Given the description of an element on the screen output the (x, y) to click on. 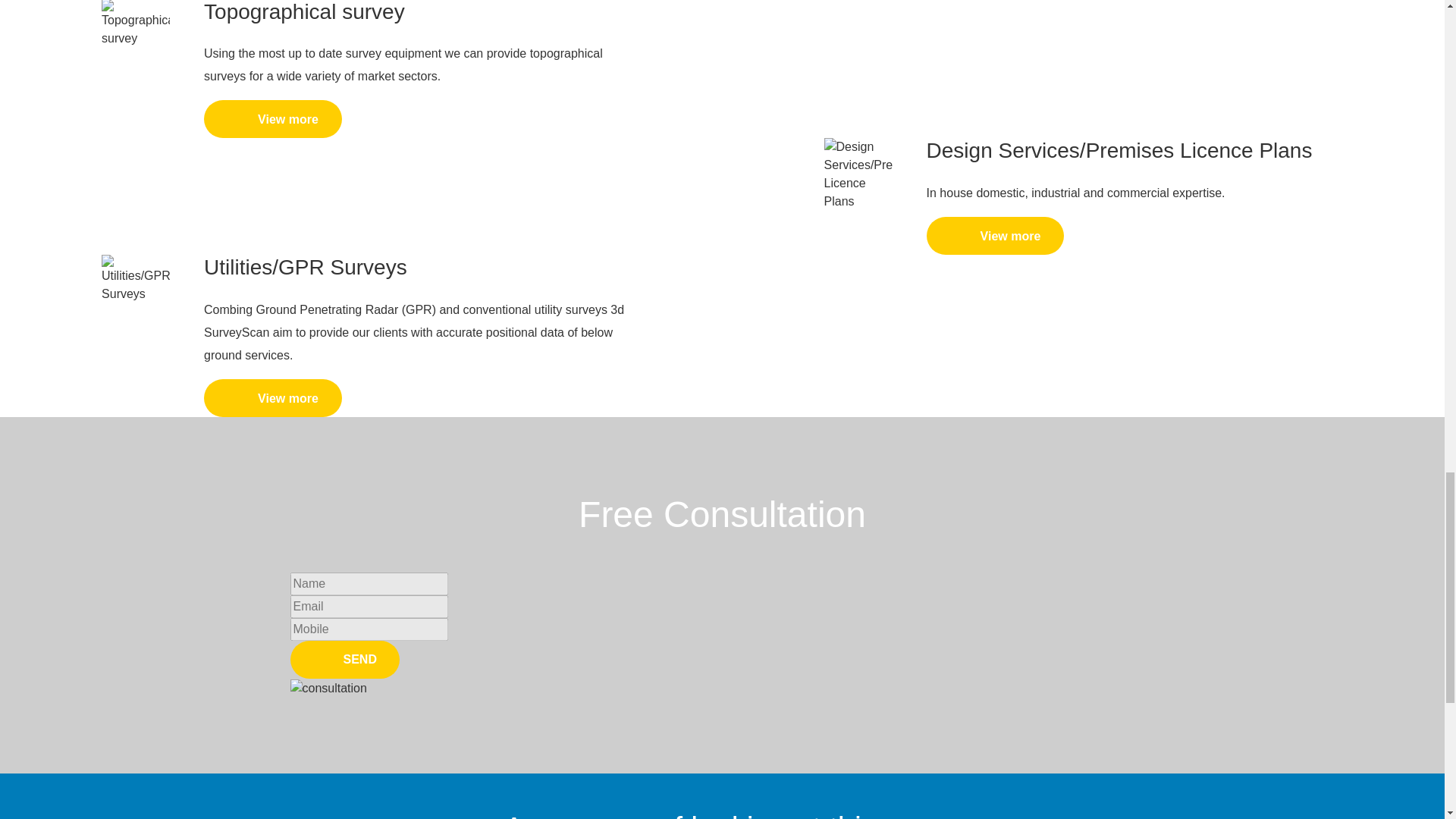
View more (995, 235)
SEND (343, 659)
View more (272, 397)
View more (272, 118)
SEND (343, 659)
